Given the description of an element on the screen output the (x, y) to click on. 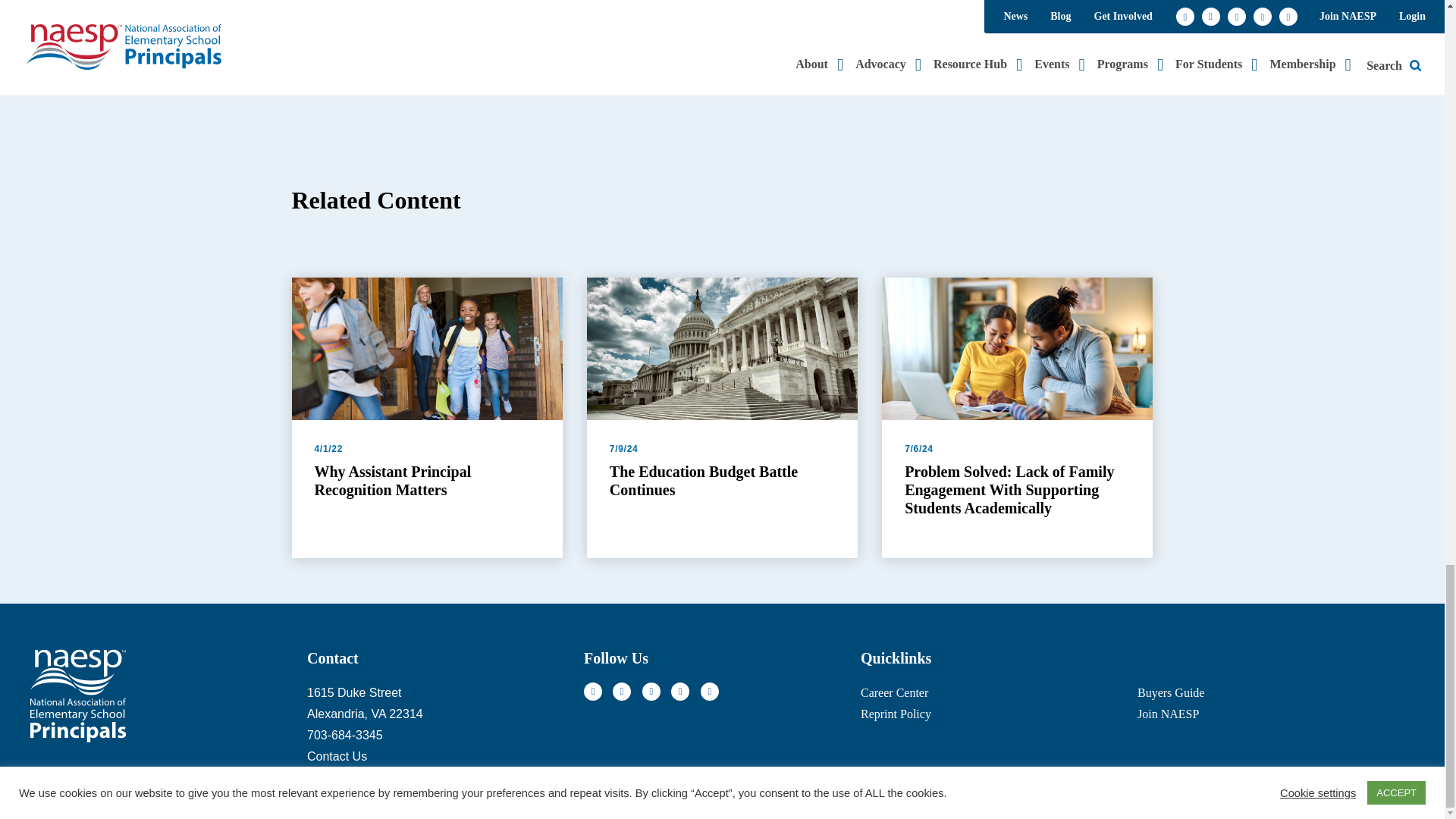
Social Driver Website (1030, 784)
